Given the description of an element on the screen output the (x, y) to click on. 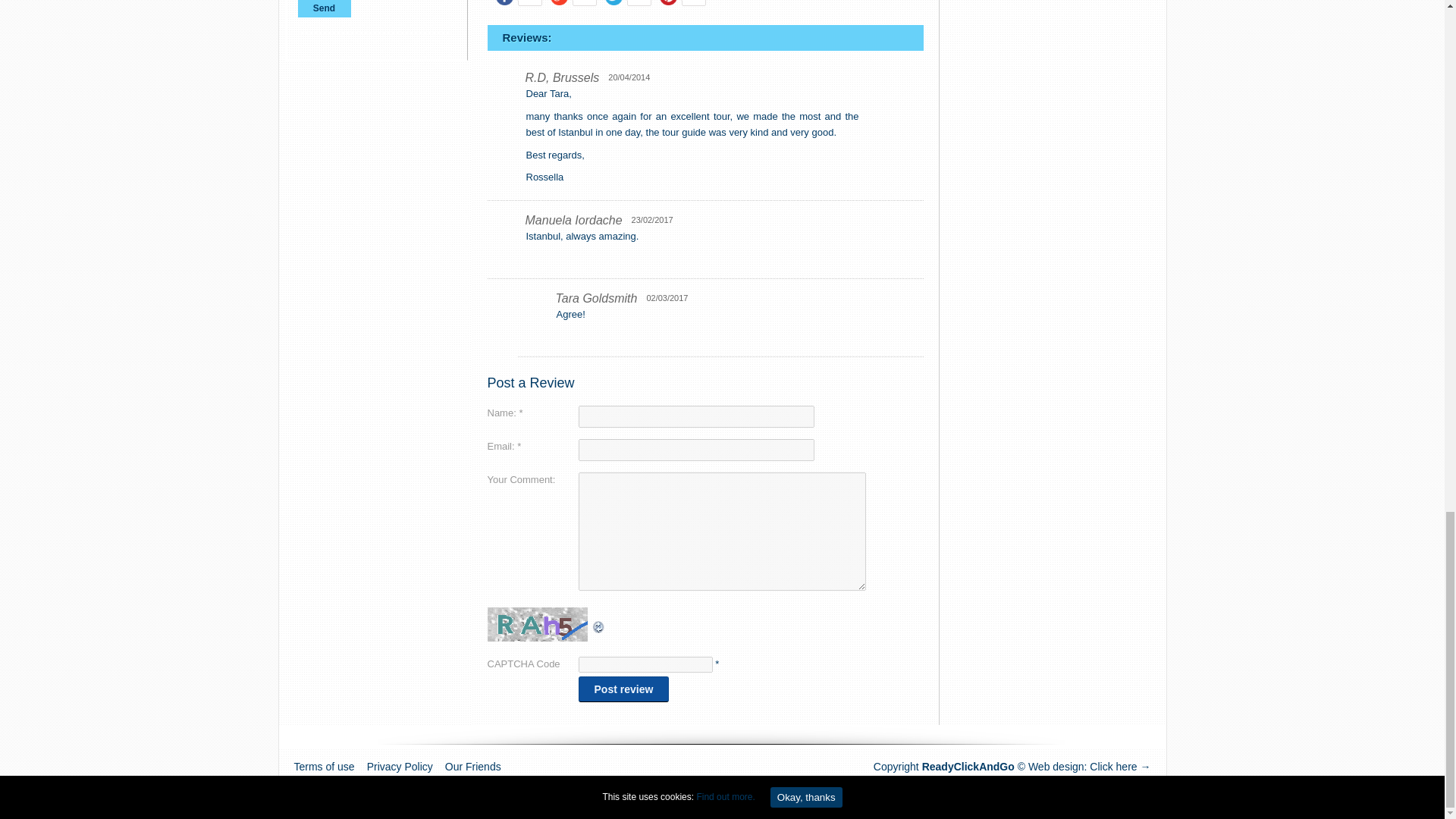
Pinterest (668, 4)
Send (323, 8)
CAPTCHA (538, 624)
Refresh (599, 626)
Post review (623, 688)
Send (323, 8)
Website (1119, 766)
Twitter (613, 4)
Facebook (505, 4)
